Given the description of an element on the screen output the (x, y) to click on. 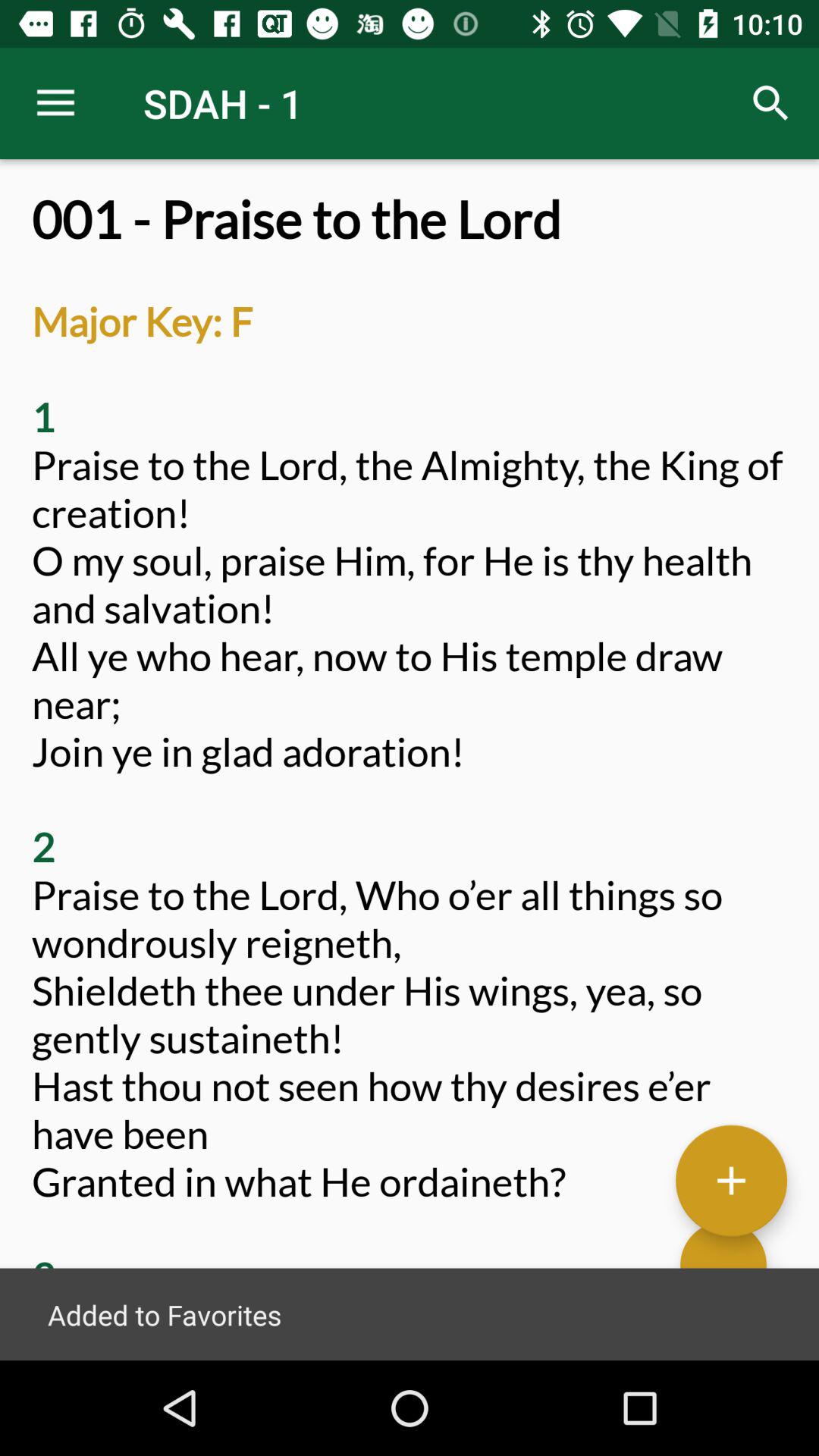
click item next to the sdah - 1 (55, 103)
